Given the description of an element on the screen output the (x, y) to click on. 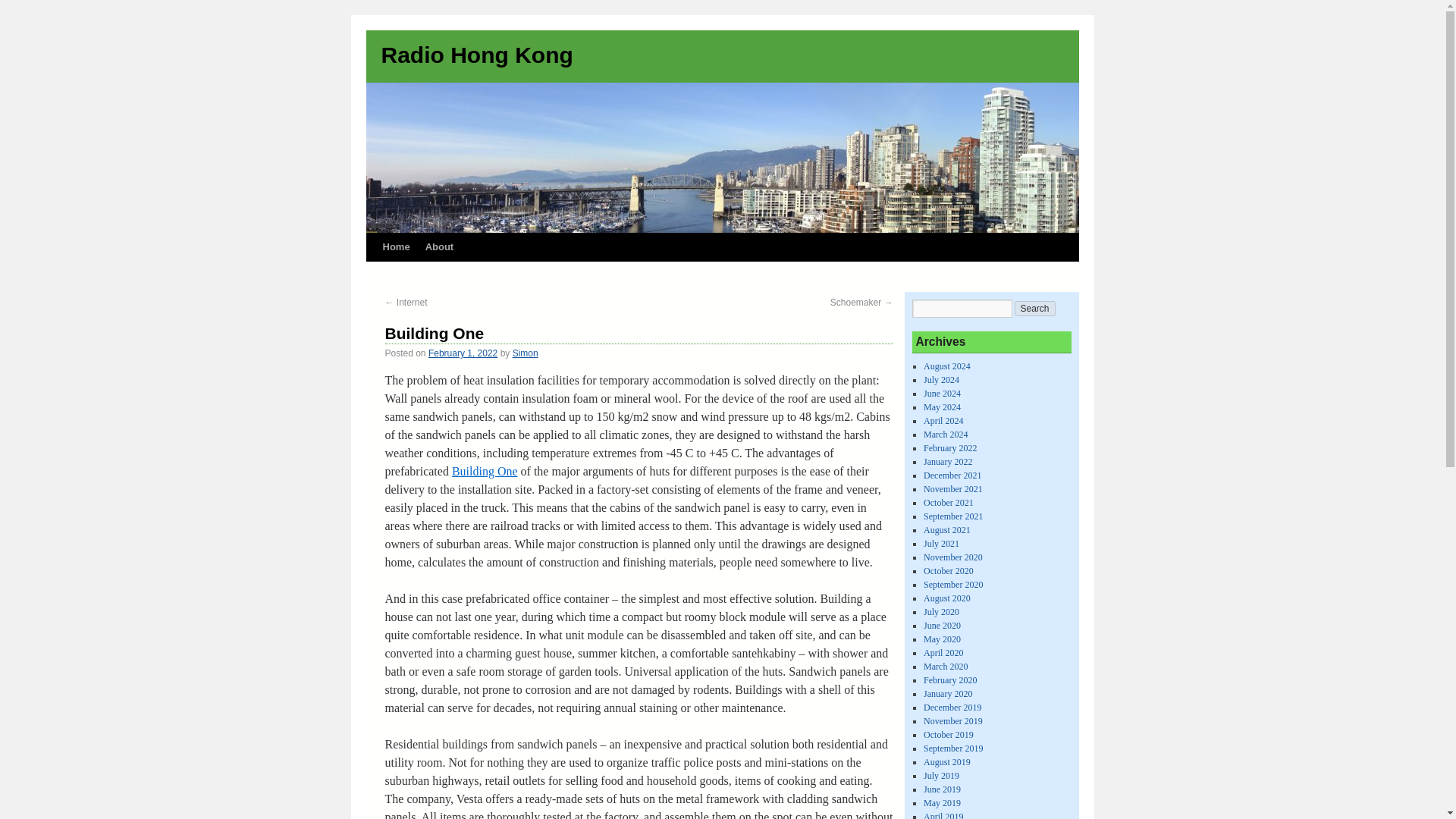
November 2020 (952, 557)
May 2024 (941, 407)
May 2020 (941, 638)
July 2021 (941, 543)
Building One (484, 471)
October 2020 (948, 570)
November 2021 (952, 489)
February 1, 2022 (462, 353)
December 2021 (952, 475)
August 2024 (947, 366)
